Given the description of an element on the screen output the (x, y) to click on. 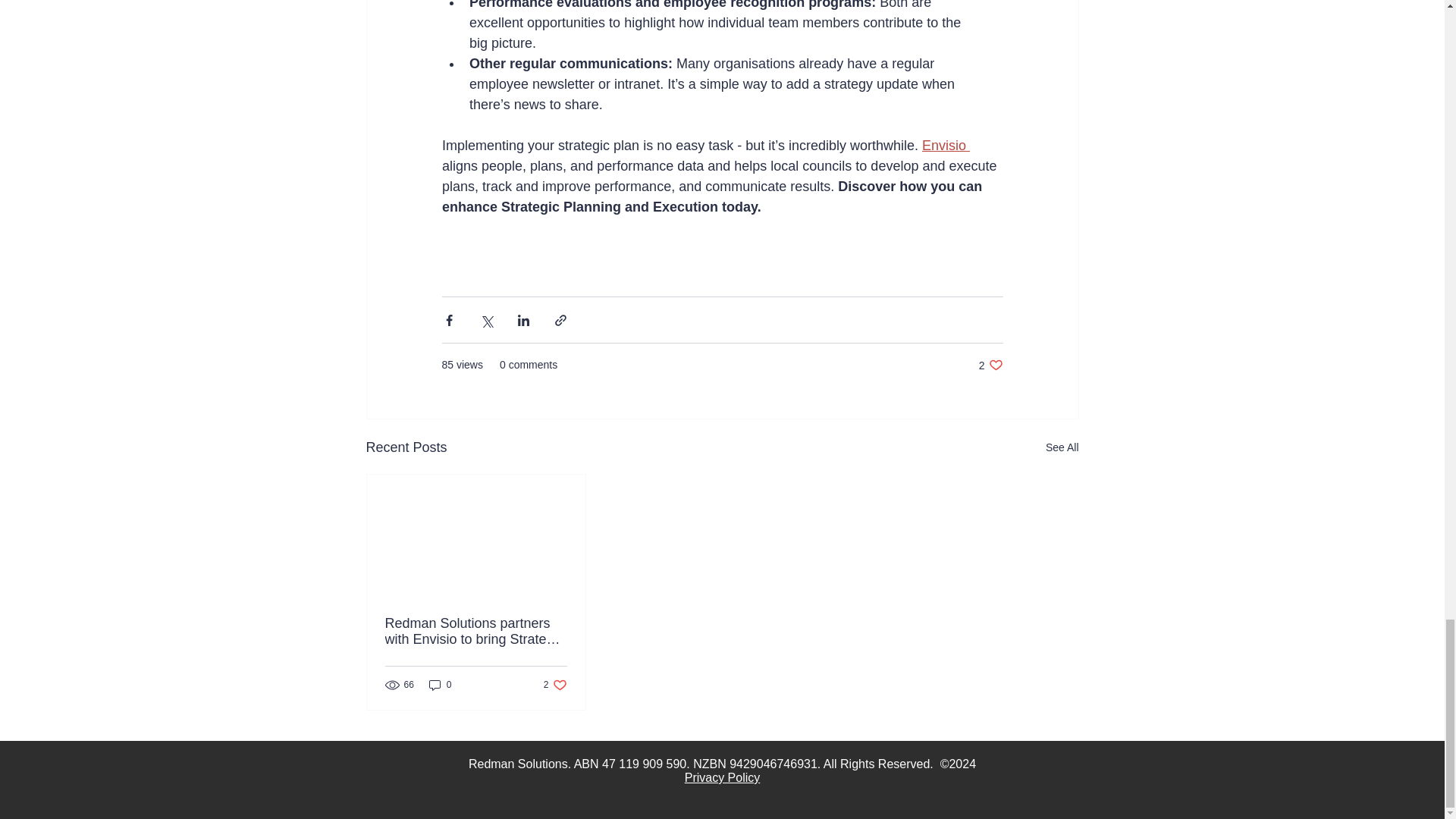
Envisio  (555, 684)
See All (945, 145)
Privacy Policy (990, 364)
0 (1061, 447)
